Given the description of an element on the screen output the (x, y) to click on. 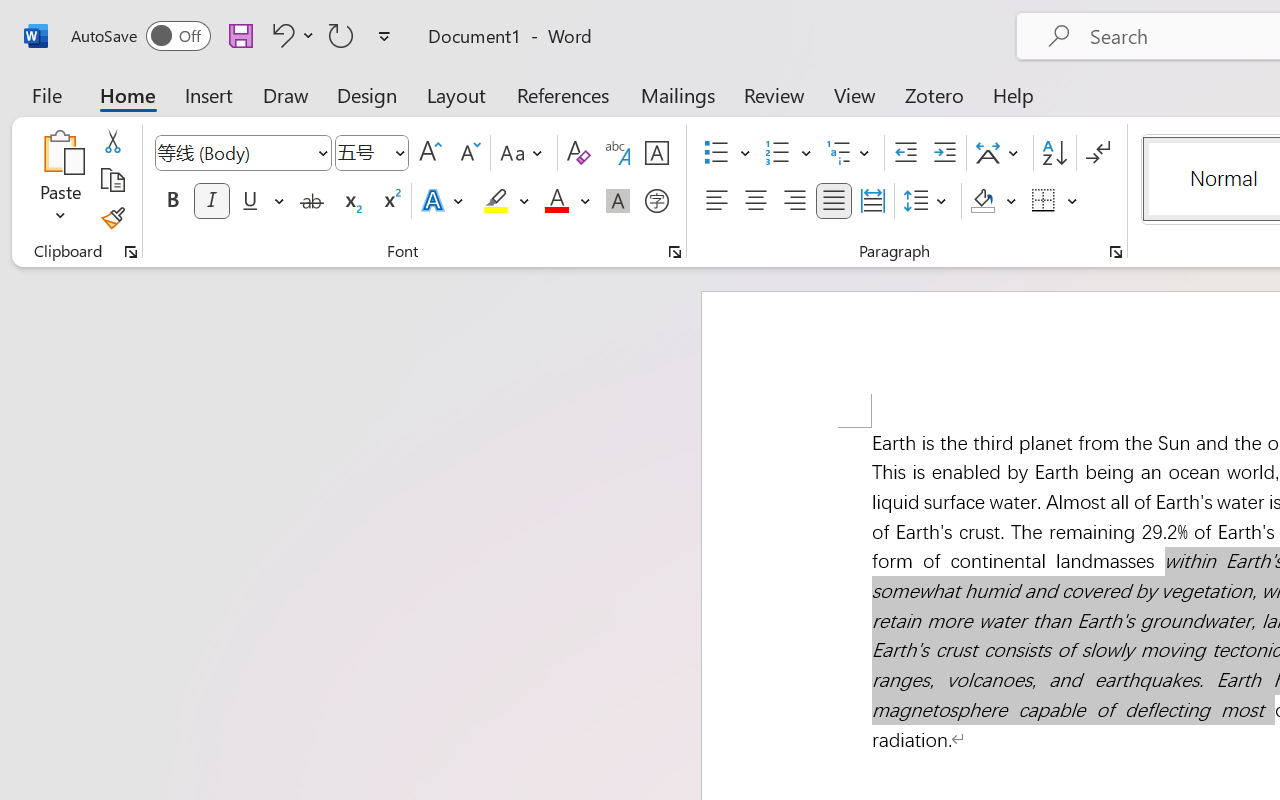
Insert (149, 54)
Transitions (294, 54)
Activate (846, 195)
Reset to Cameo (474, 114)
Home (86, 54)
View (693, 54)
Shape Format (832, 54)
Redo (204, 17)
Customize Quick Access Toolbar (262, 17)
Slide (184, 327)
Cameo (91, 114)
From Beginning (234, 17)
Help (748, 54)
Preview (30, 114)
